Given the description of an element on the screen output the (x, y) to click on. 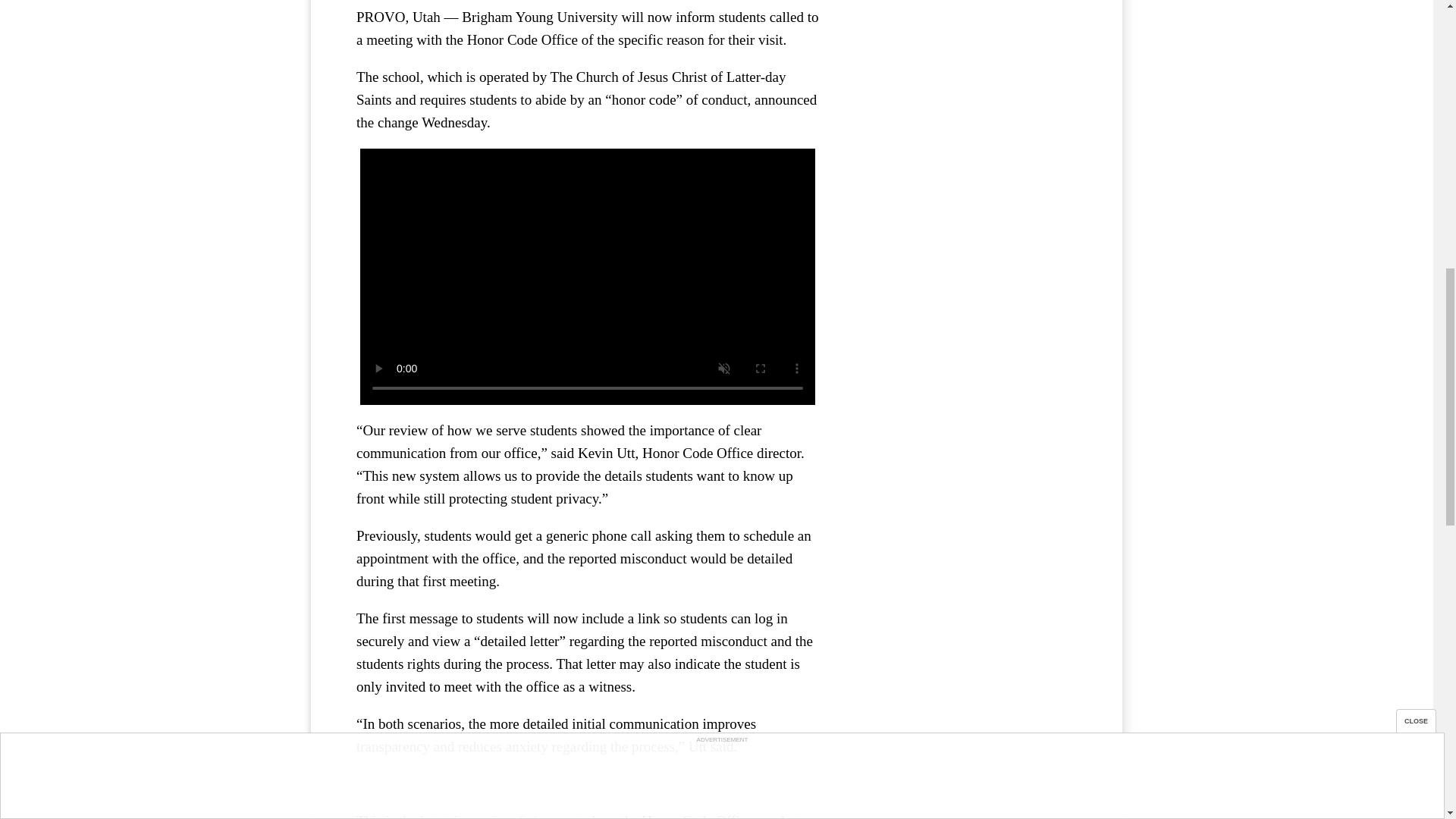
3rd party ad content (962, 86)
